Given the description of an element on the screen output the (x, y) to click on. 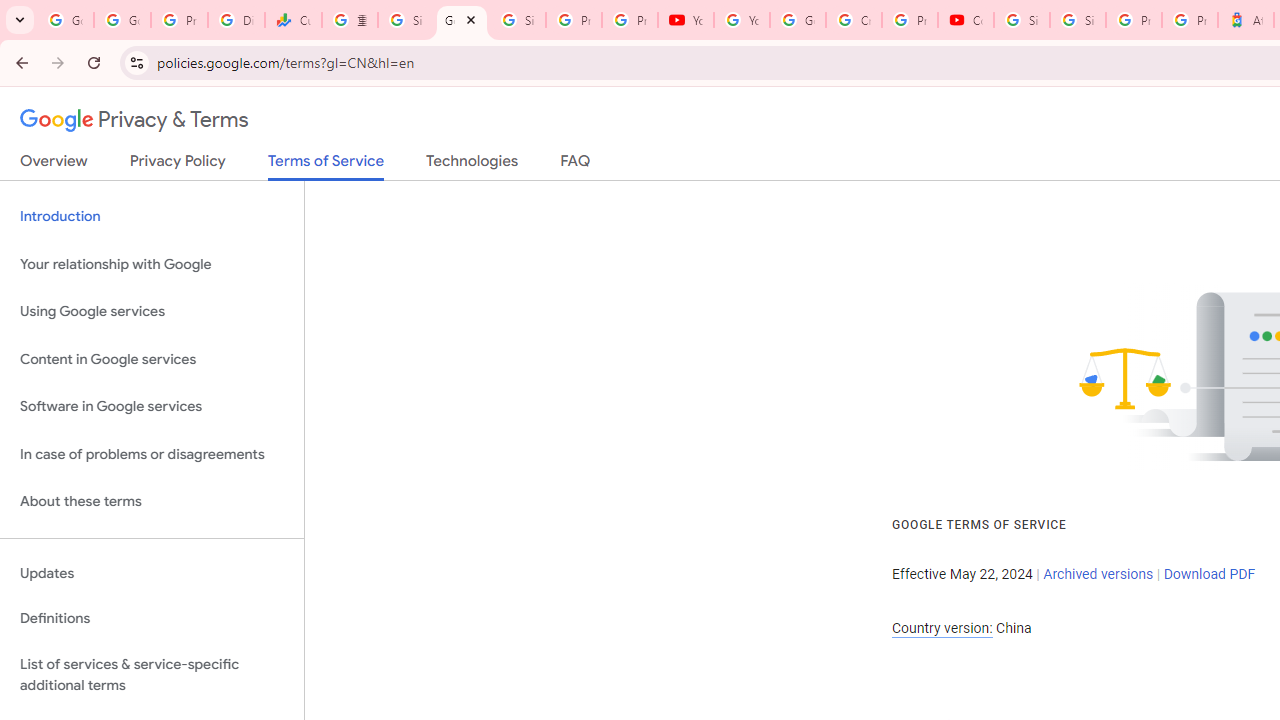
Create your Google Account (853, 20)
Sign in - Google Accounts (405, 20)
Content Creator Programs & Opportunities - YouTube Creators (966, 20)
Currencies - Google Finance (293, 20)
Using Google services (152, 312)
Your relationship with Google (152, 263)
